Given the description of an element on the screen output the (x, y) to click on. 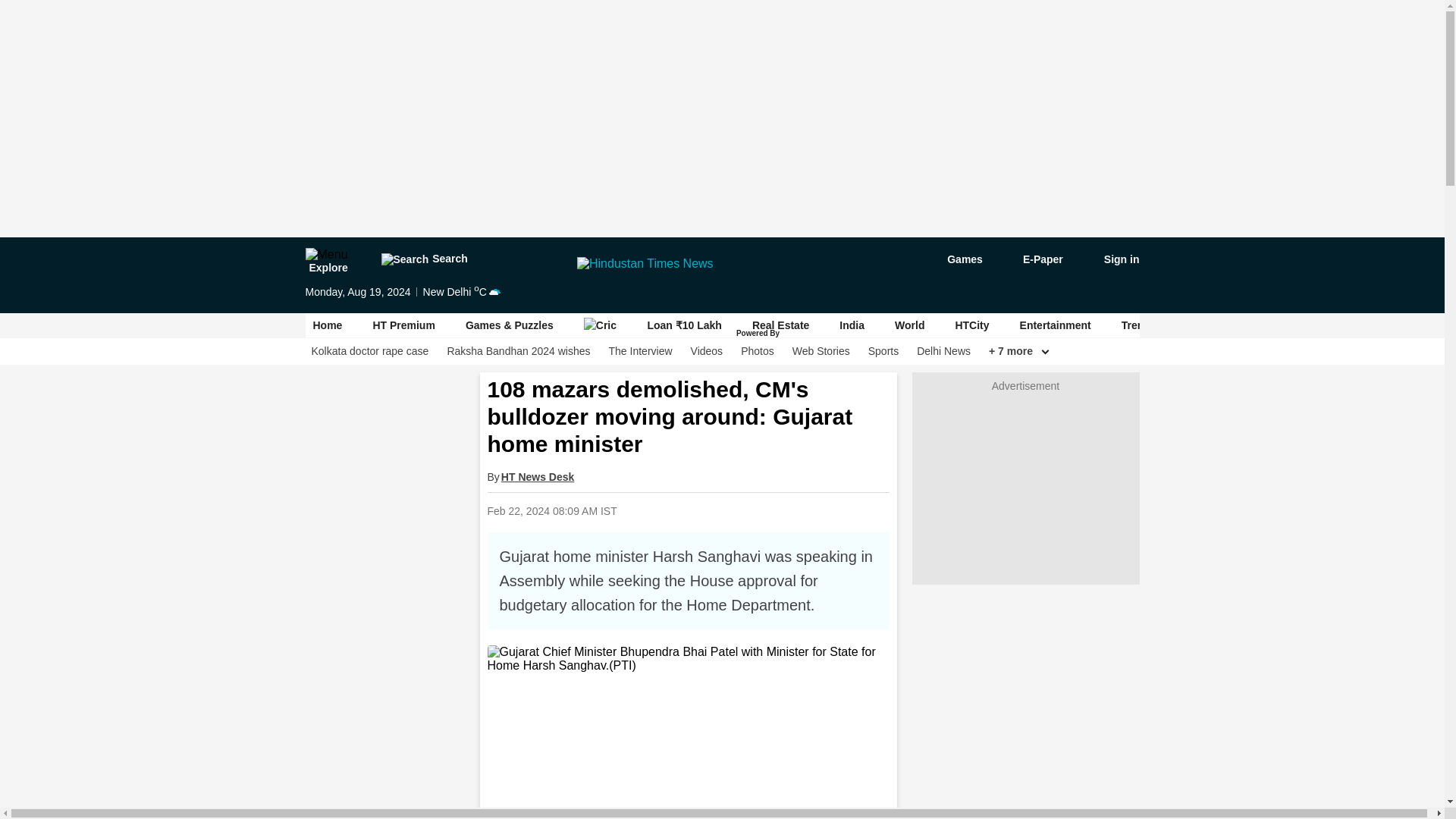
Kolkata doctor rape case (369, 350)
Web Stories (821, 350)
The Interview (640, 350)
Search (423, 258)
HTCity (971, 325)
Education (1374, 325)
Entertainment (1055, 325)
Crickit (600, 324)
epaper (1034, 258)
Photos (757, 350)
